Given the description of an element on the screen output the (x, y) to click on. 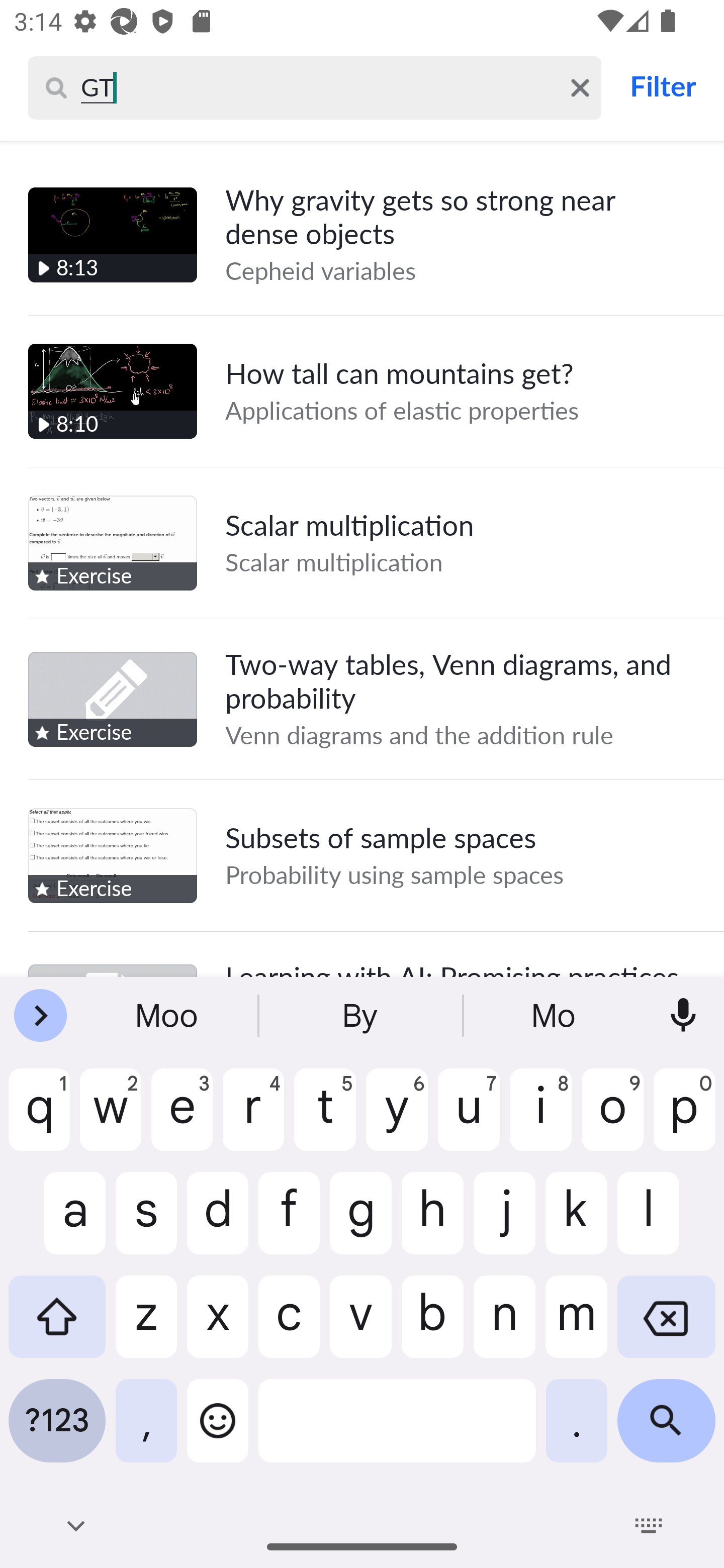
Search GT Search Dismiss Dismiss (314, 87)
GT Search (318, 87)
Filter (662, 85)
Dismiss (580, 87)
